Given the description of an element on the screen output the (x, y) to click on. 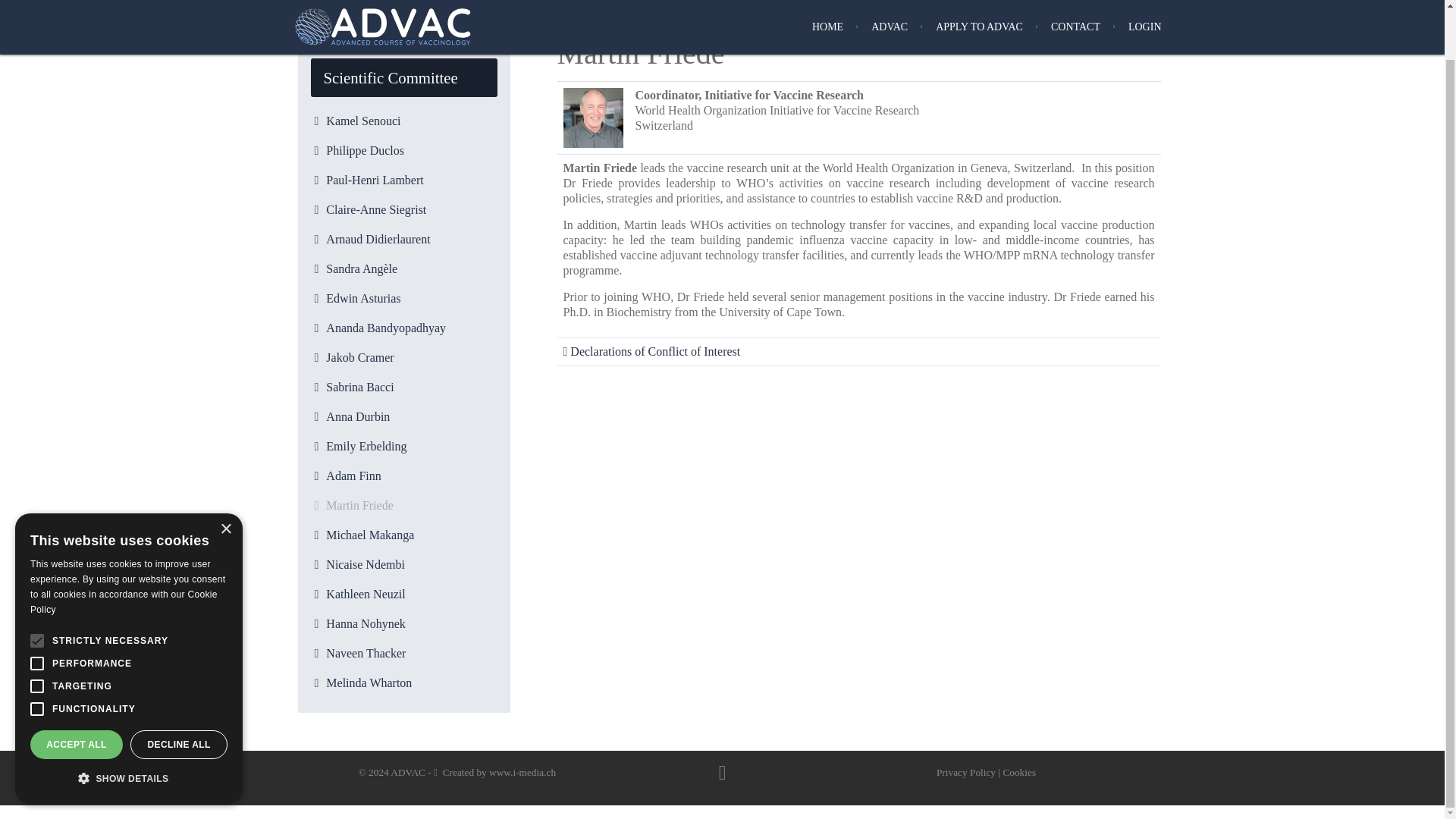
Jakob Cramer (403, 357)
Nicaise Ndembi (403, 565)
Arnaud Didierlaurent (403, 239)
Kamel Senouci (403, 121)
Claire-Anne Siegrist (403, 209)
Edwin Asturias (403, 298)
Emily Erbelding (403, 446)
Anna Durbin (403, 416)
Sabrina Bacci (403, 387)
Adam Finn (403, 475)
Philippe Duclos (403, 150)
Paul-Henri Lambert (403, 180)
Michael Makanga (403, 534)
Ananda Bandyopadhyay (403, 328)
Martin Friede (403, 505)
